Given the description of an element on the screen output the (x, y) to click on. 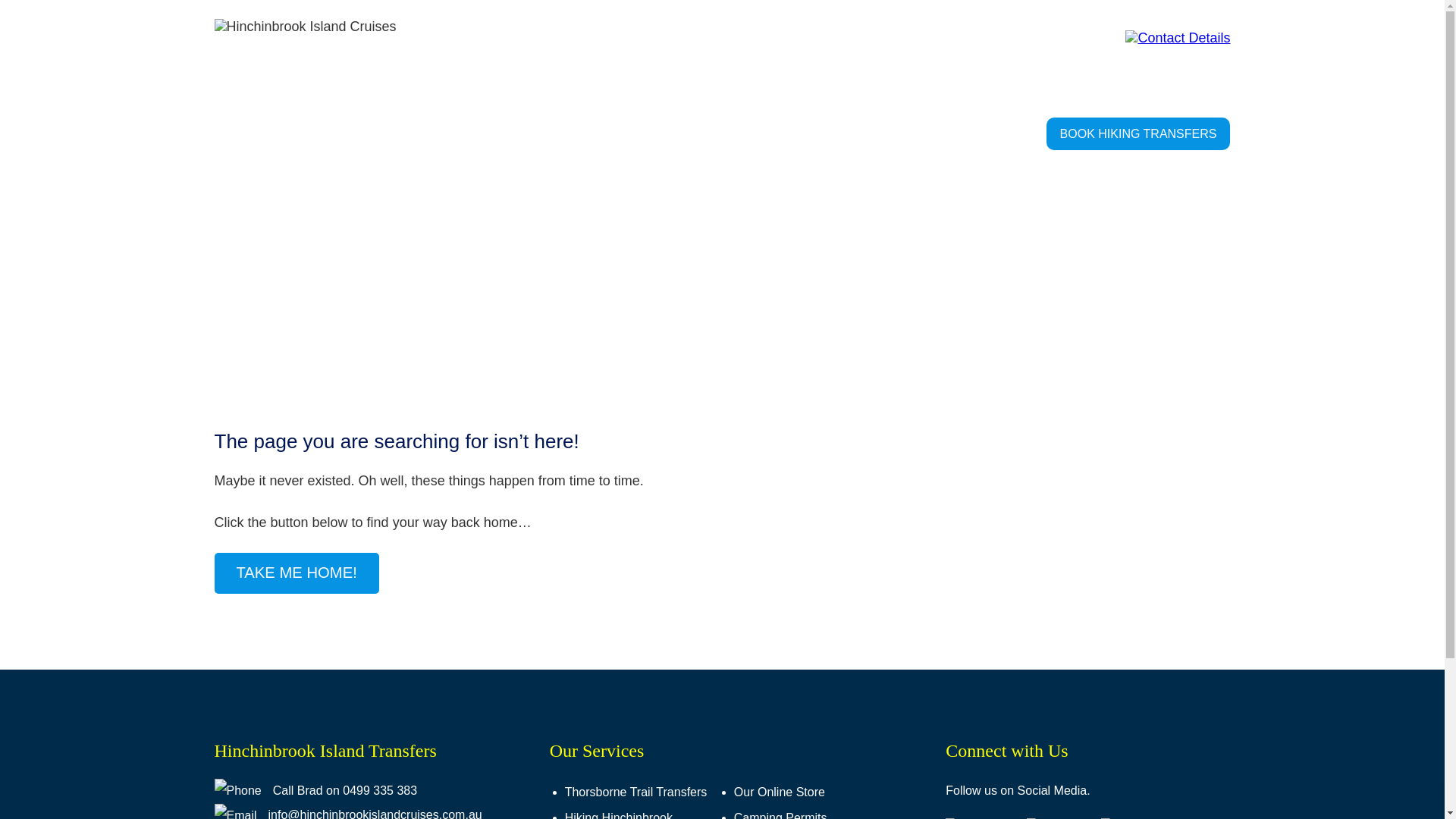
FIND US Element type: text (699, 133)
Our Online Store Element type: text (817, 791)
HIKING HINCHINBROOK ISLAND Element type: text (458, 133)
Thorsborne Trail Transfers Element type: text (647, 791)
HOME Element type: text (231, 133)
ONLINE STORE Element type: text (891, 133)
TAKE ME HOME! Element type: text (295, 572)
BOOK HIKING TRANSFERS Element type: text (1138, 133)
